Given the description of an element on the screen output the (x, y) to click on. 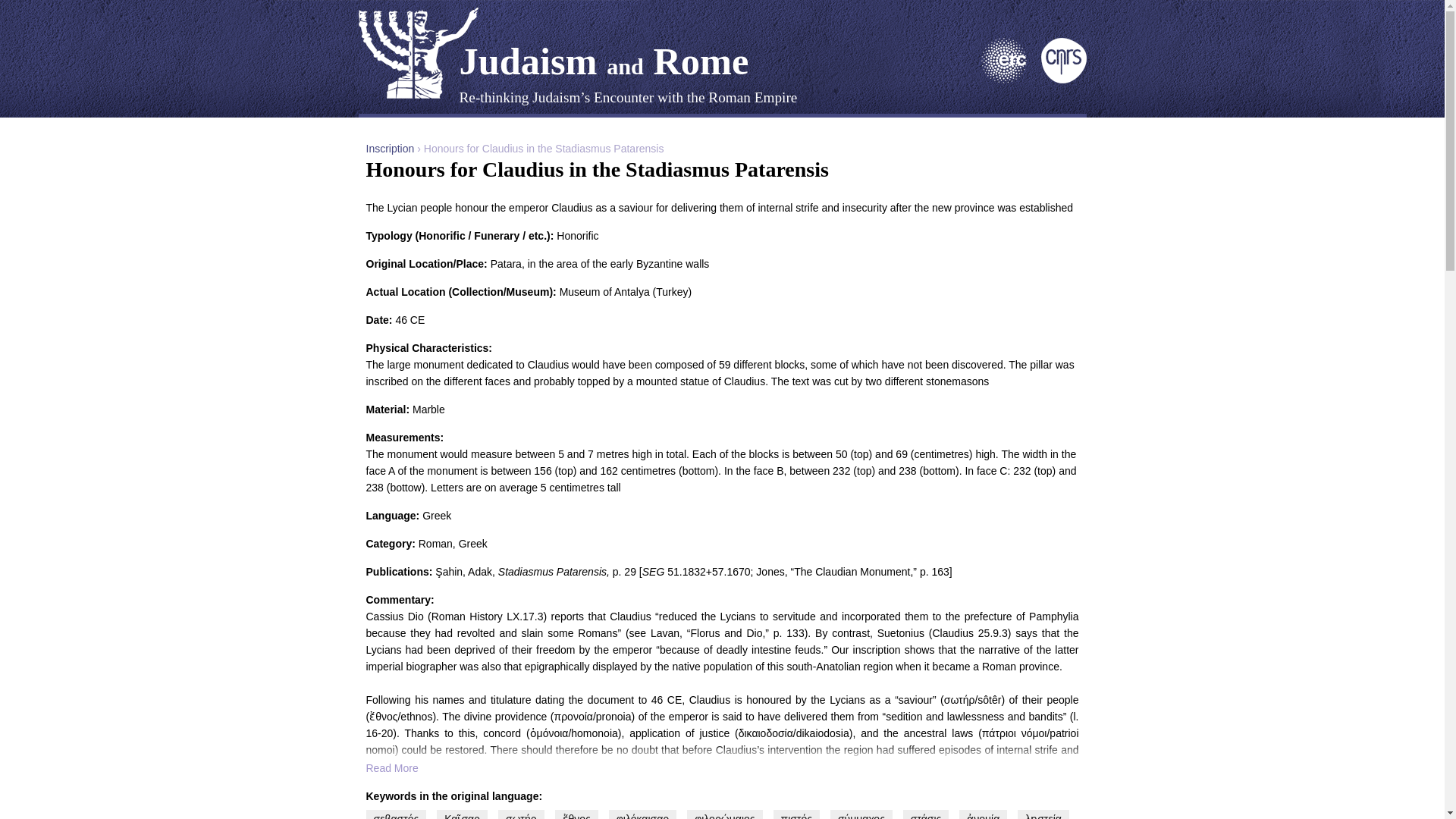
Judaism and Rome (604, 61)
ERC: European Research Council (1003, 79)
Inscription (389, 148)
Read More (721, 768)
Home (604, 61)
CNRS: Centre national de la recherche scientifique (1063, 79)
Home (417, 52)
